Given the description of an element on the screen output the (x, y) to click on. 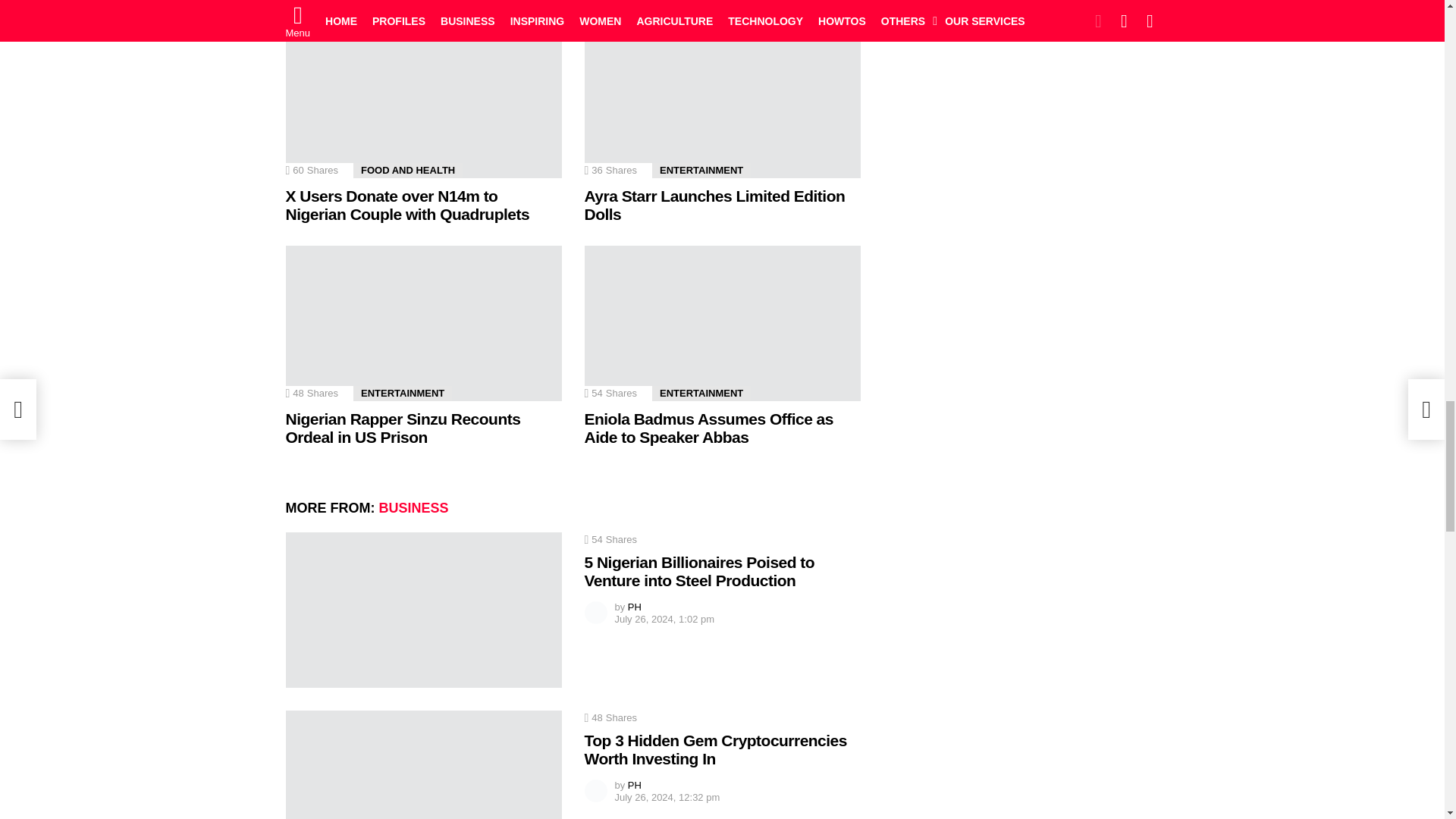
X Users Donate over N14m to Nigerian Couple with Quadruplets (422, 100)
Top 3 Hidden Gem Cryptocurrencies Worth Investing In (422, 764)
Ayra Starr Launches Limited Edition Dolls (721, 100)
Posts by PH (634, 606)
Eniola Badmus Assumes Office as Aide to Speaker Abbas (721, 323)
Nigerian Rapper Sinzu Recounts Ordeal in US Prison (422, 323)
Posts by PH (634, 785)
